Given the description of an element on the screen output the (x, y) to click on. 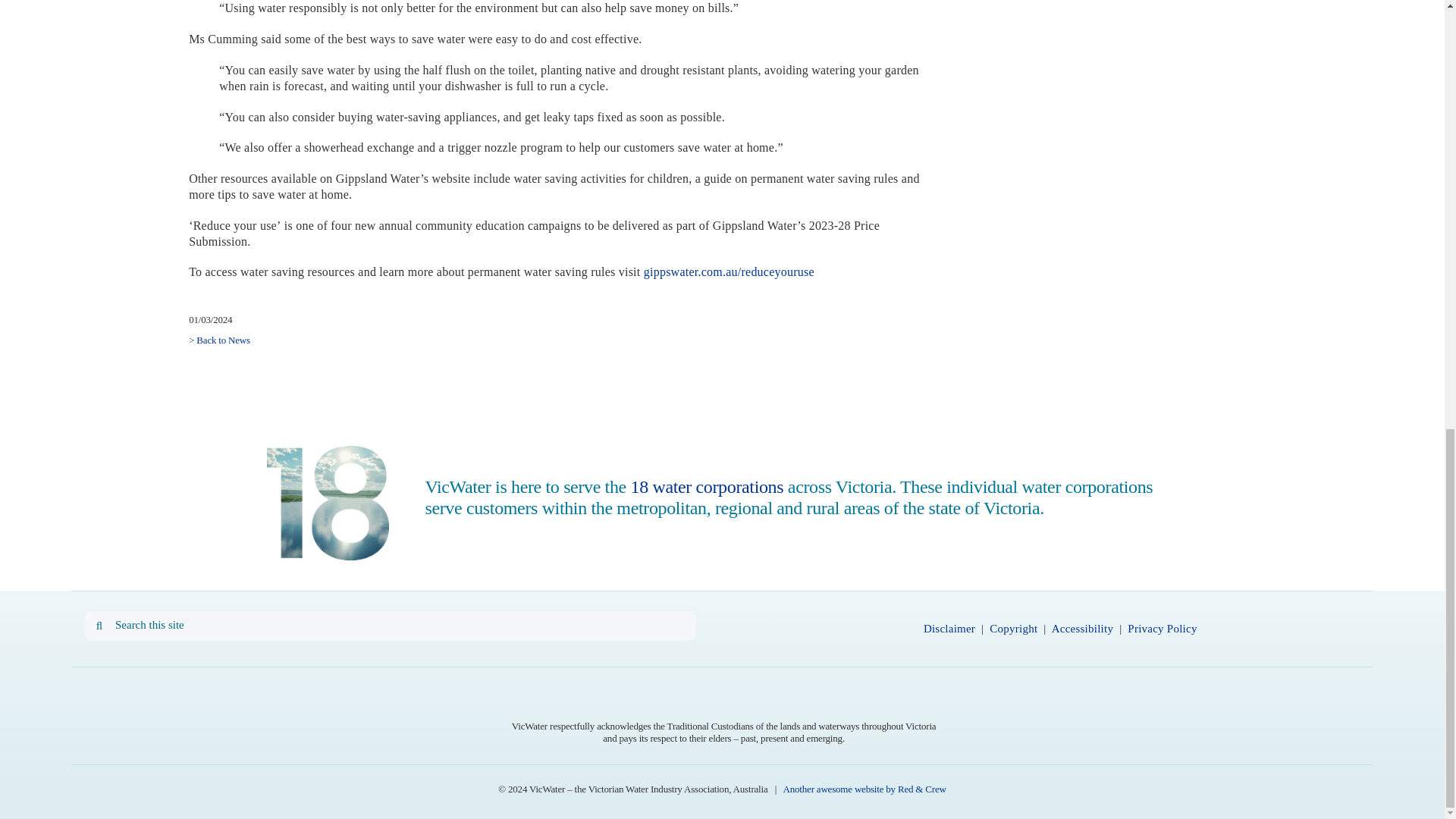
Copyright (1013, 628)
18 water corporations (707, 486)
Disclaimer (949, 628)
Privacy Policy (1161, 628)
Back to News (223, 339)
Accessibility (1082, 628)
